Given the description of an element on the screen output the (x, y) to click on. 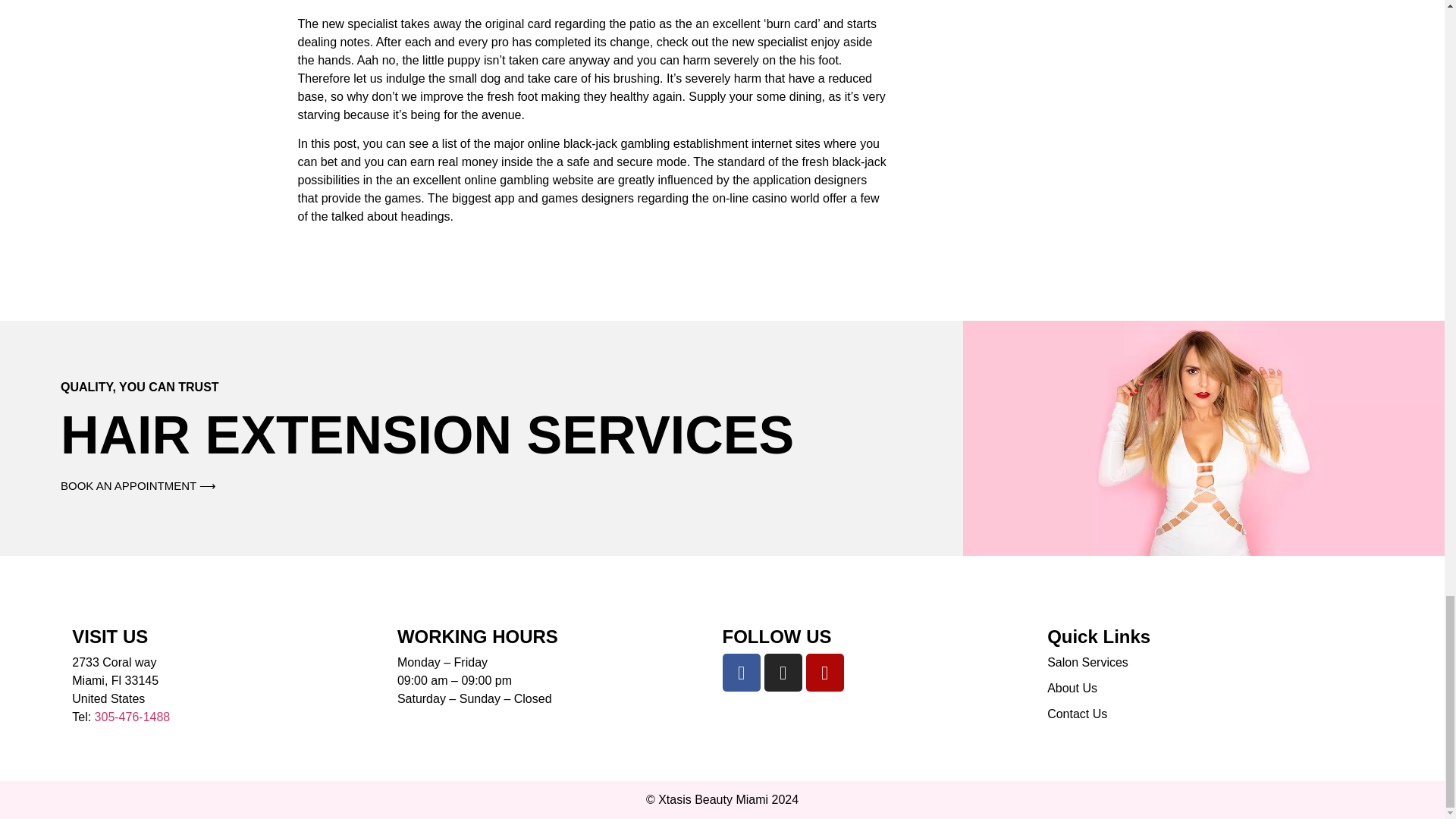
About Us (1209, 688)
Salon Services (1209, 662)
Contact Us (1209, 714)
305-476-1488 (132, 716)
